Given the description of an element on the screen output the (x, y) to click on. 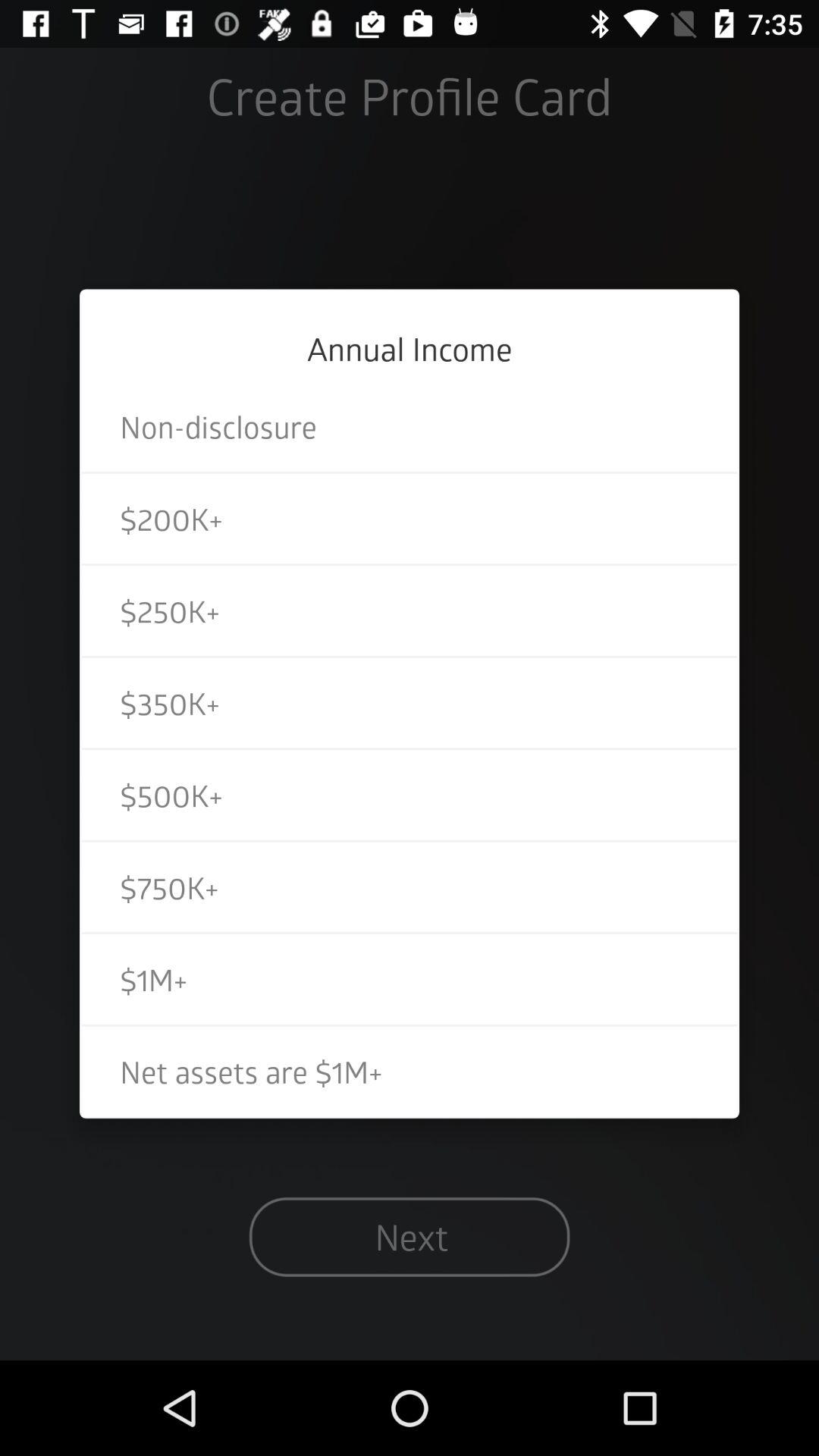
tap the $750k+ (409, 887)
